Given the description of an element on the screen output the (x, y) to click on. 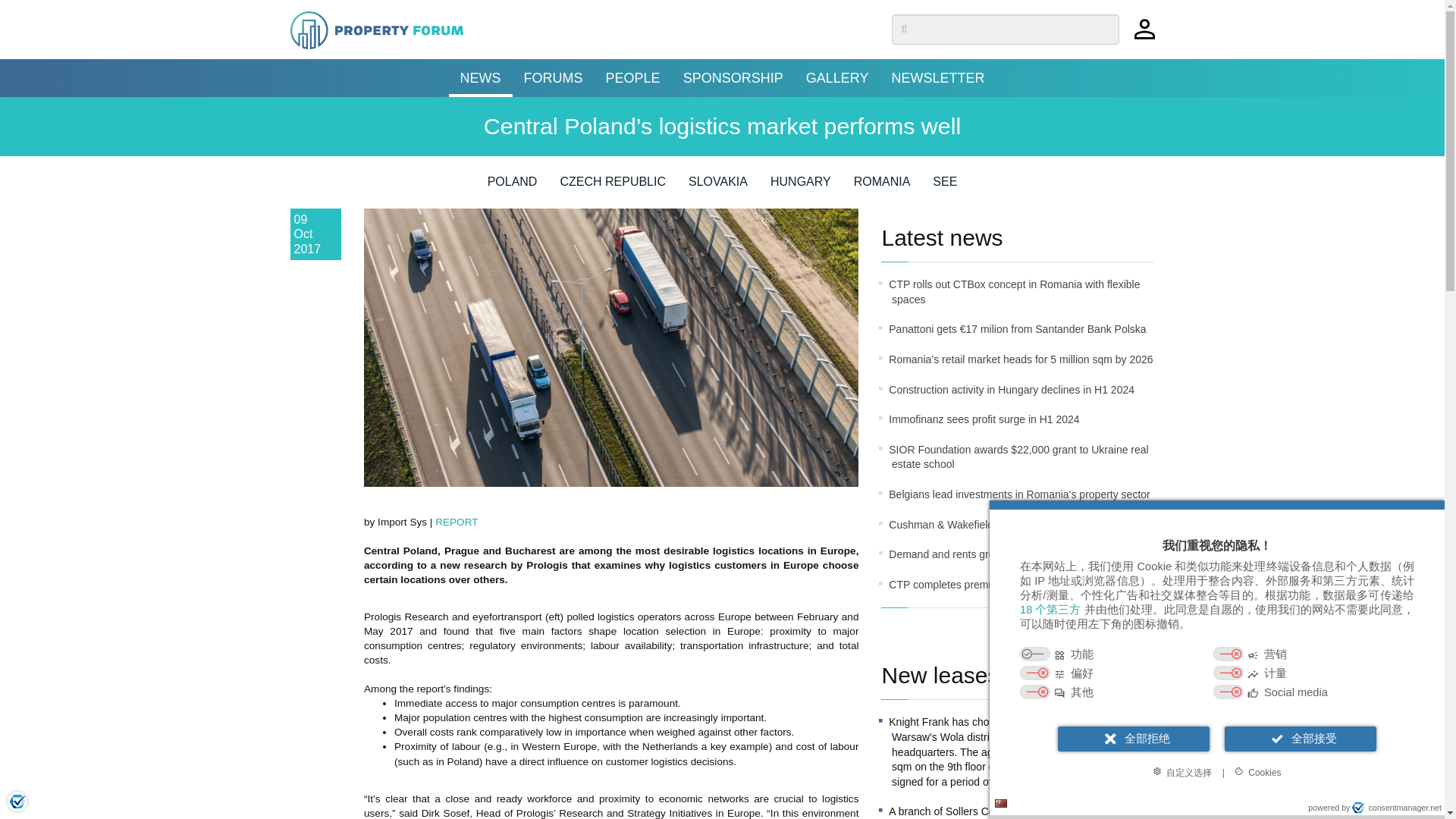
Cookies (1257, 771)
NEWS (480, 77)
Language: zh (1000, 803)
PEOPLE (632, 77)
Signed out (1144, 36)
Language: zh (1000, 803)
FORUMS (553, 77)
consentmanager.net (1396, 807)
